Given the description of an element on the screen output the (x, y) to click on. 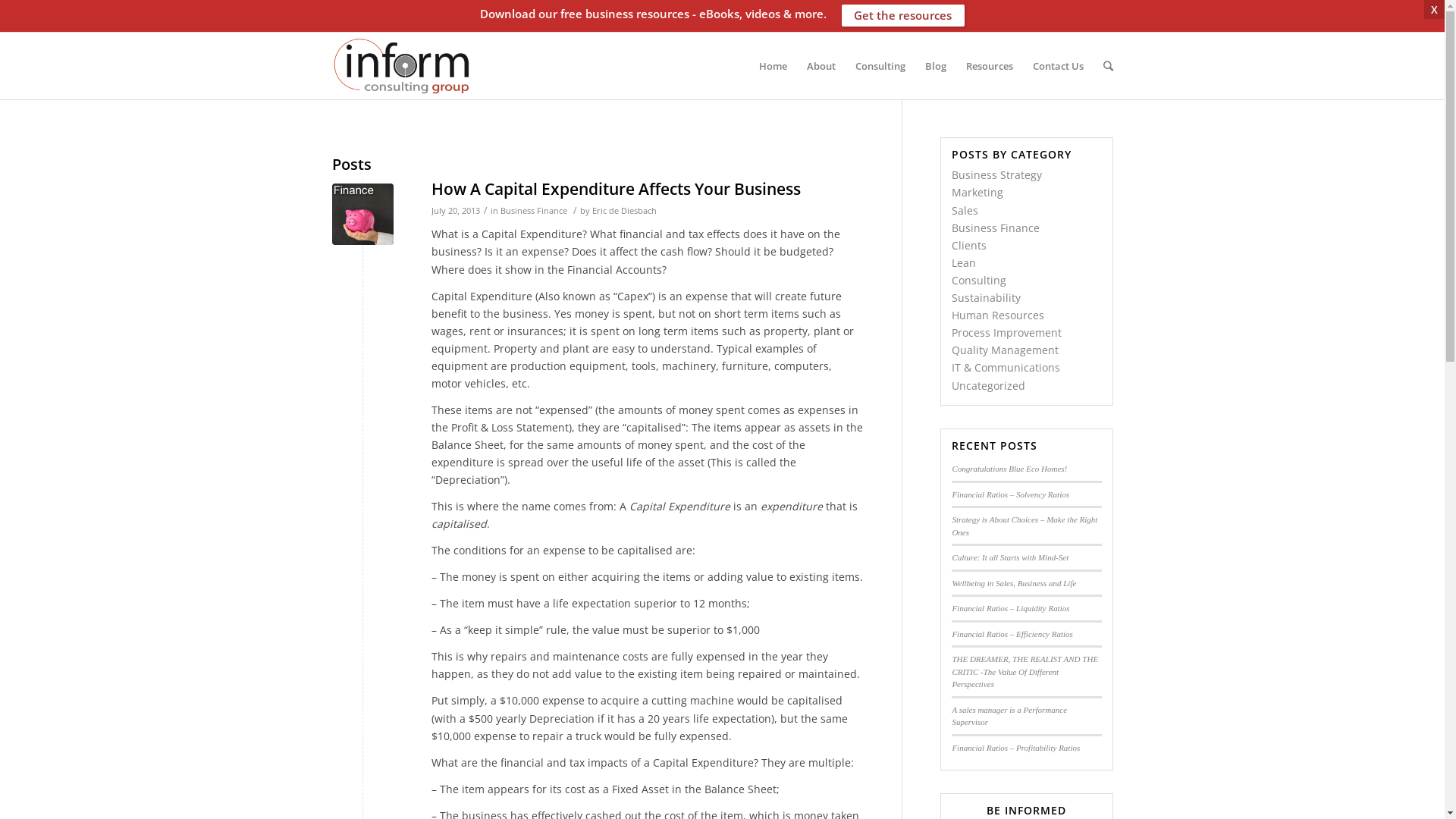
Sales Element type: text (964, 210)
Eric de Diesbach Element type: text (623, 210)
Congratulations Blue Eco Homes! Element type: text (1008, 468)
Lean Element type: text (963, 262)
Sustainability Element type: text (985, 297)
How A Capital Expenditure Affects Your Business Element type: text (615, 188)
Contact Us Element type: text (1057, 65)
How A Capital Expenditure Affects Your Business Element type: hover (362, 213)
Consulting Element type: text (978, 280)
Human Resources Element type: text (997, 314)
Clients Element type: text (968, 245)
X Element type: text (1434, 9)
Get the resources Element type: text (903, 15)
A sales manager is a Performance Supervisor Element type: text (1008, 716)
Wellbeing in Sales, Business and Life Element type: text (1013, 581)
Blog Element type: text (934, 65)
Process Improvement Element type: text (1006, 332)
Business Finance Element type: text (533, 210)
Home Element type: text (773, 65)
Resources Element type: text (988, 65)
Quality Management Element type: text (1004, 349)
Marketing Element type: text (977, 192)
IT & Communications Element type: text (1005, 367)
About Element type: text (820, 65)
Consulting Element type: text (879, 65)
Culture: It all Starts with Mind-Set Element type: text (1009, 556)
Business Strategy Element type: text (996, 174)
Uncategorized Element type: text (988, 385)
Business Finance Element type: text (995, 227)
